Given the description of an element on the screen output the (x, y) to click on. 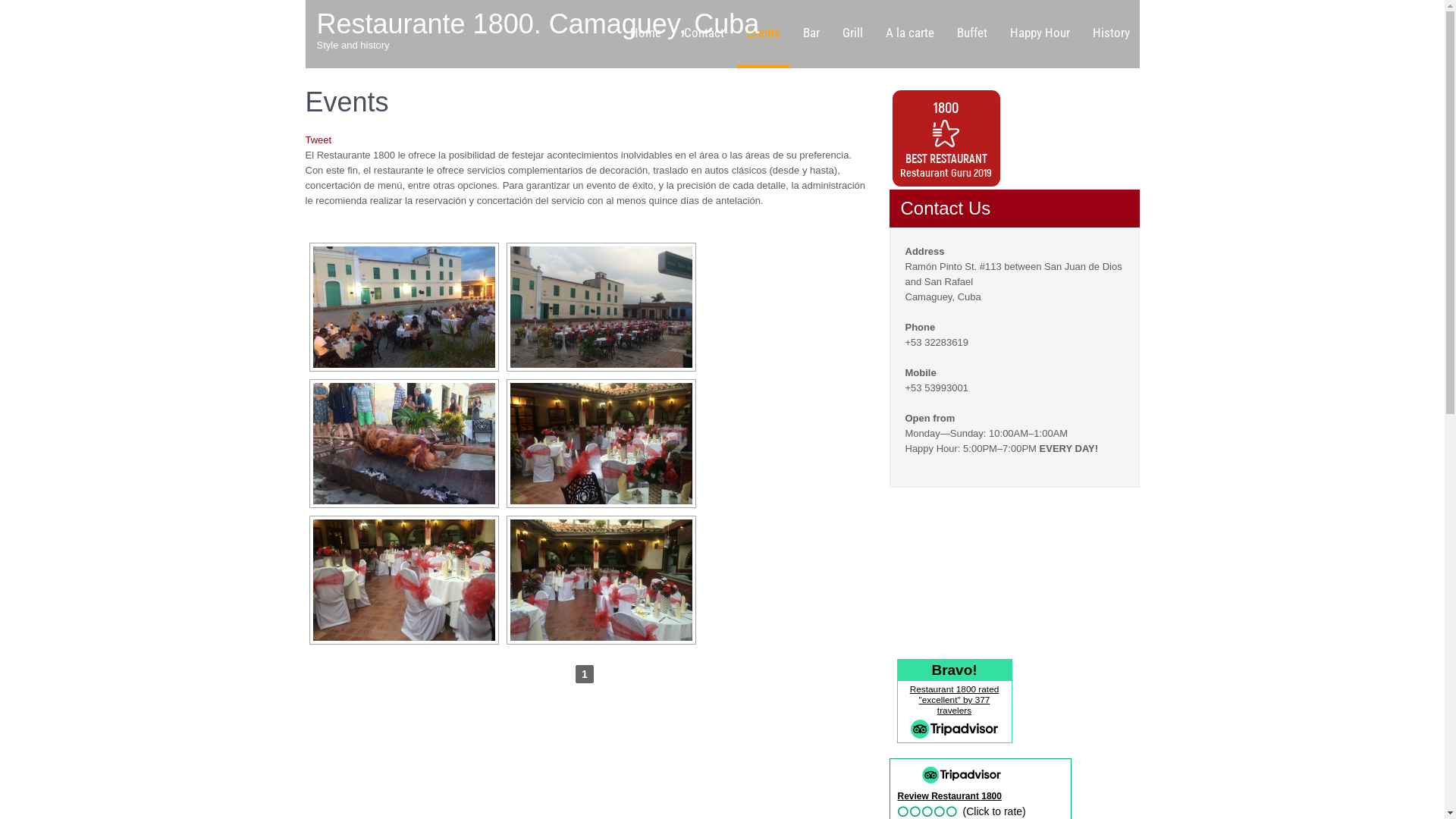
Home Element type: text (645, 34)
Restaurant 1800 rated "excellent" by 377 travelers Element type: text (954, 699)
Review Restaurant 1800 Element type: text (949, 795)
Bar Element type: text (811, 34)
Events Element type: text (763, 34)
IMG_1058 Element type: hover (600, 579)
Restaurant Guru 2019 Element type: text (945, 171)
IMG_1487 Element type: hover (403, 443)
Buffet Element type: text (971, 34)
Tweet Element type: text (317, 139)
IMG_1572 Element type: hover (403, 306)
Happy Hour Element type: text (1039, 34)
Restaurante 1800. Camaguey, Cuba Element type: text (537, 23)
IMG_1513 Element type: hover (600, 306)
Grill Element type: text (852, 34)
IMG_1060 Element type: hover (403, 579)
A la carte Element type: text (909, 34)
1800 Element type: text (945, 106)
IMG_1061 Element type: hover (600, 443)
1800
BEST RESTAURANT
Restaurant Guru 2019 Element type: text (945, 138)
Contact Element type: text (703, 34)
History Element type: text (1110, 34)
